Given the description of an element on the screen output the (x, y) to click on. 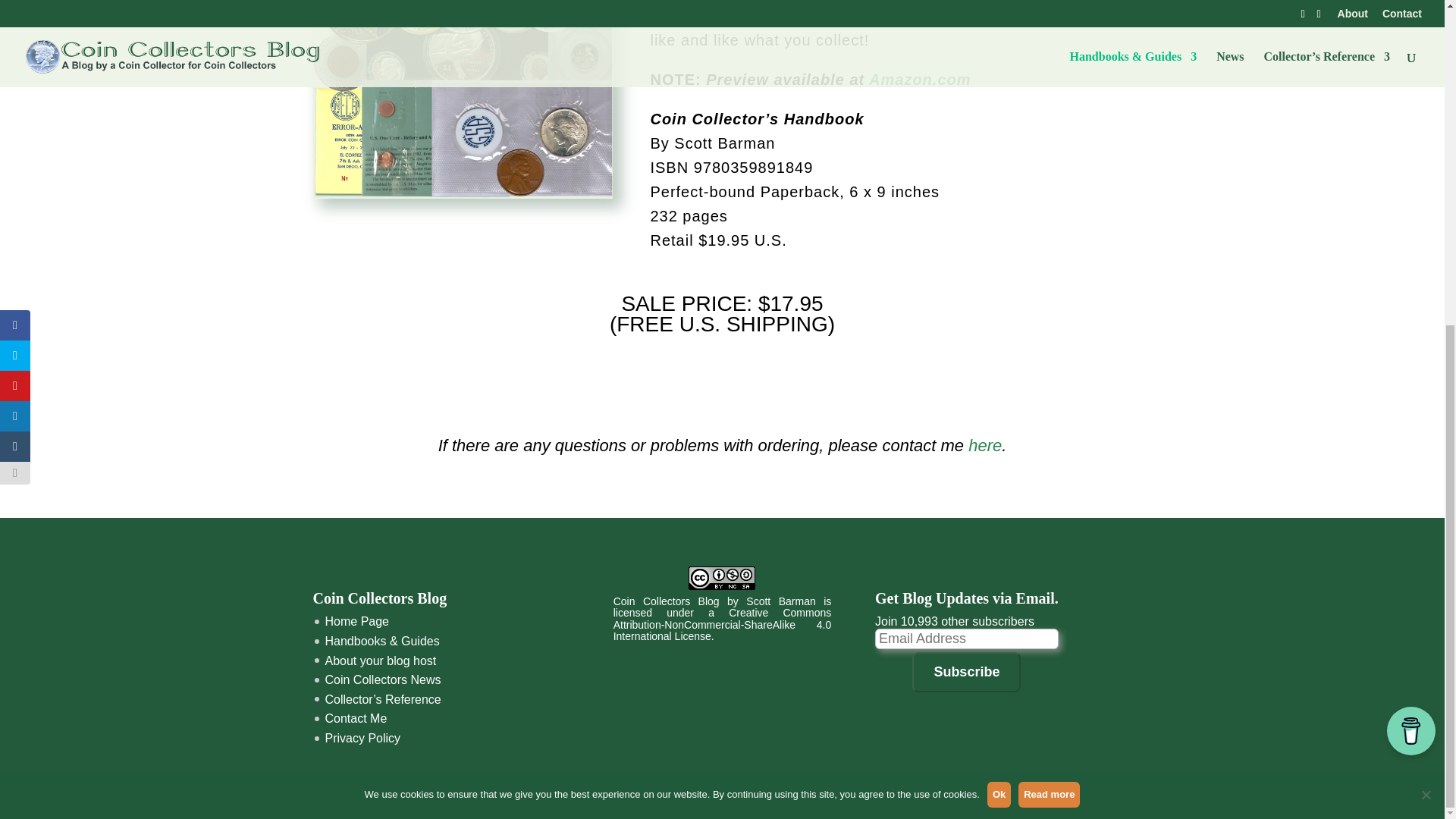
No (1425, 261)
Amazon.com (920, 79)
PayPal (722, 367)
here (984, 445)
Coin Collector's Handbook (462, 99)
Home Page (356, 621)
